Given the description of an element on the screen output the (x, y) to click on. 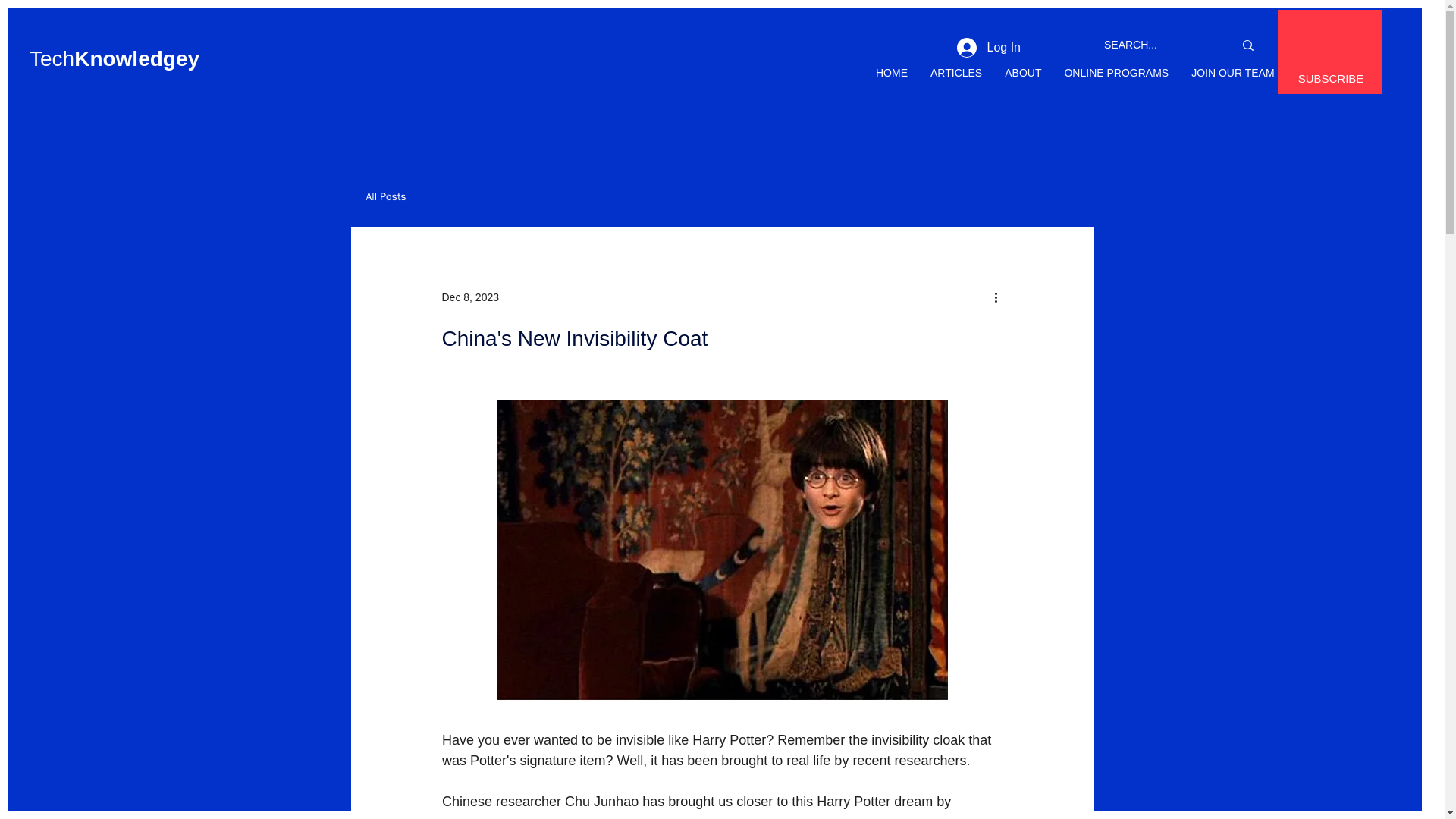
ONLINE PROGRAMS (1115, 81)
Log In (988, 47)
ABOUT (1022, 81)
ARTICLES (955, 81)
HOME (891, 81)
SUBSCRIBE (1331, 78)
Dec 8, 2023 (470, 297)
All Posts (385, 196)
JOIN OUR TEAM (1232, 81)
TechKnowledgey (114, 58)
